Given the description of an element on the screen output the (x, y) to click on. 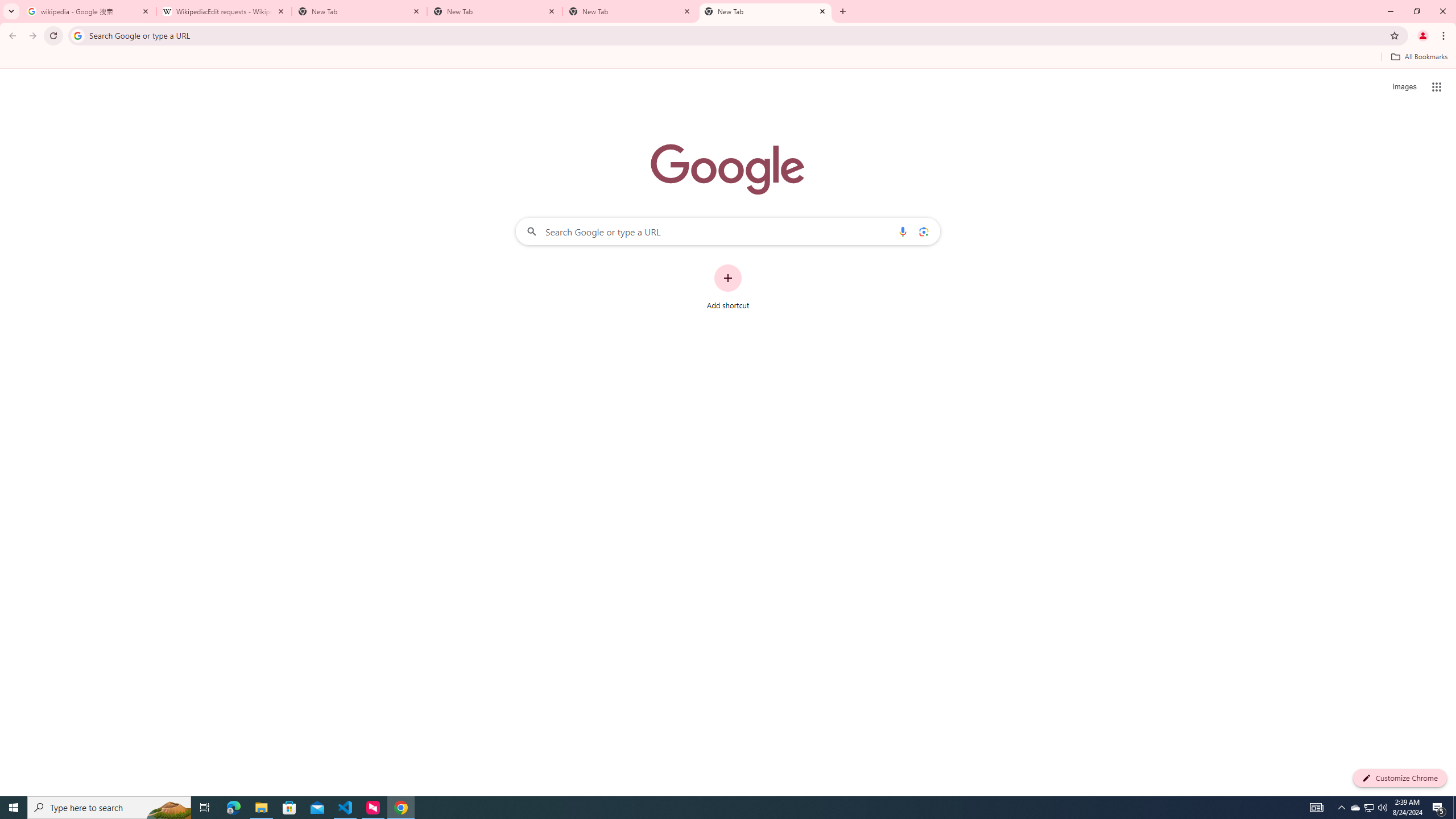
New Tab (765, 11)
New Tab (630, 11)
